Given the description of an element on the screen output the (x, y) to click on. 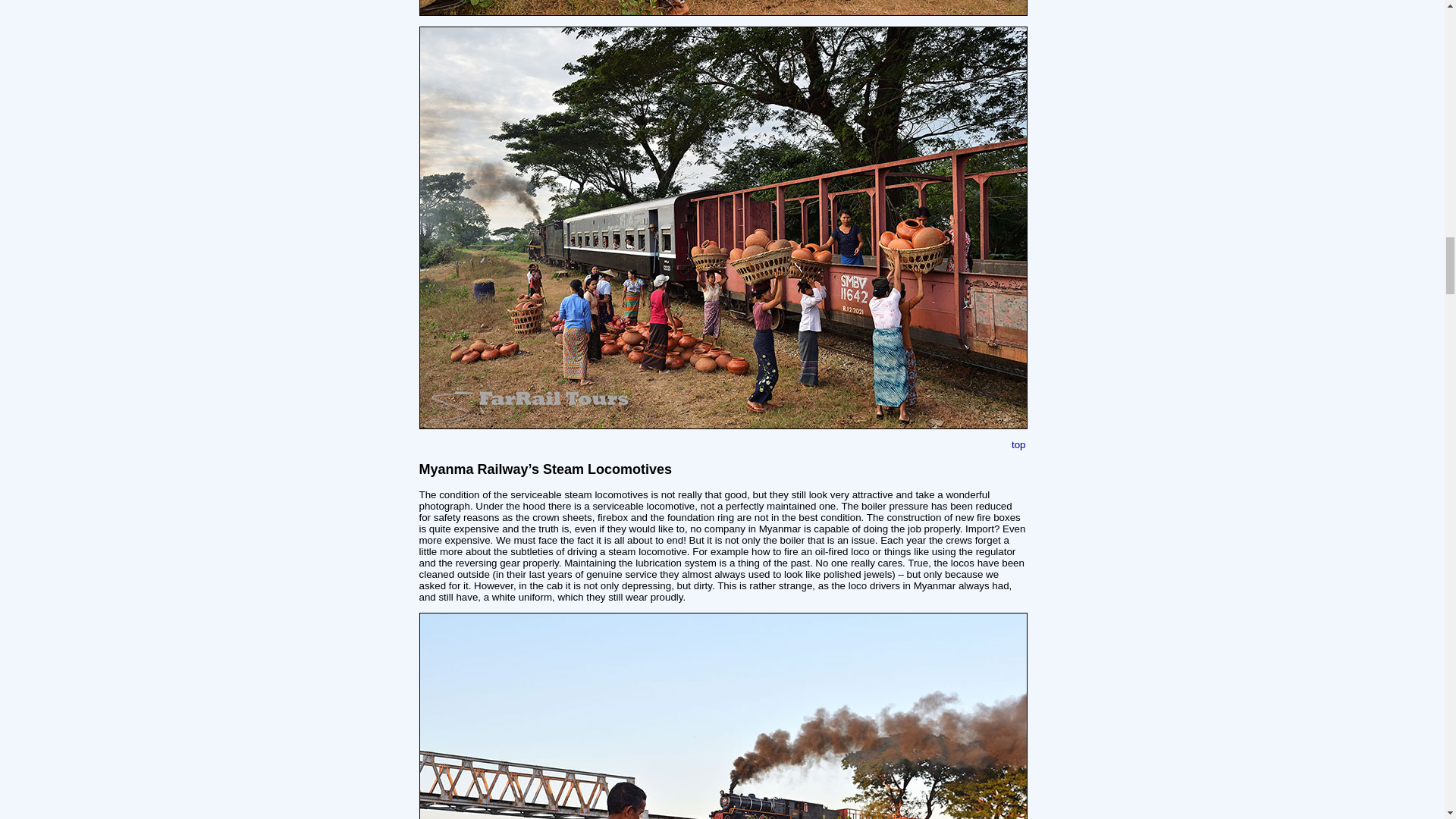
top (1018, 444)
